Given the description of an element on the screen output the (x, y) to click on. 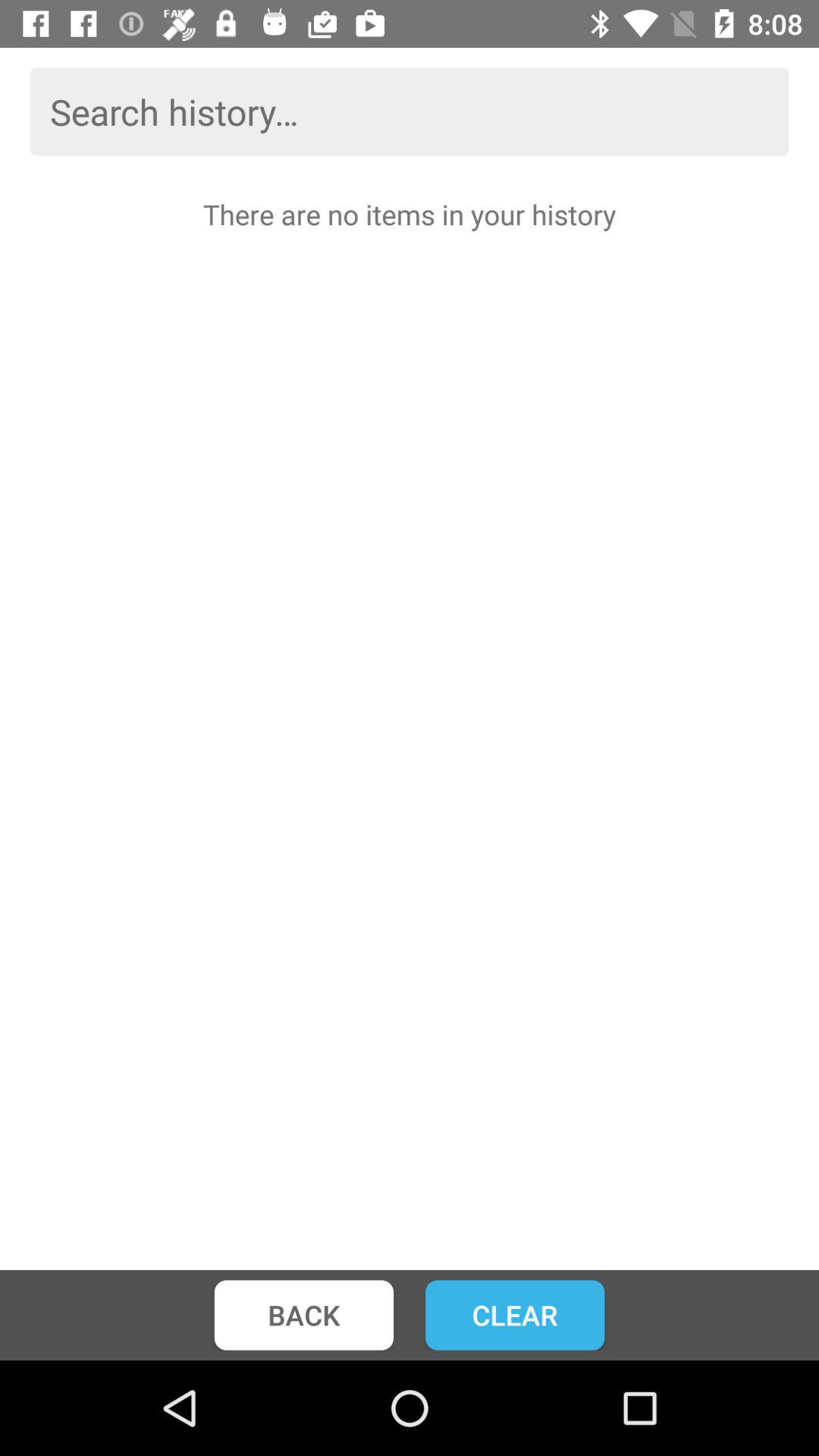
click the icon next to the back item (514, 1315)
